Given the description of an element on the screen output the (x, y) to click on. 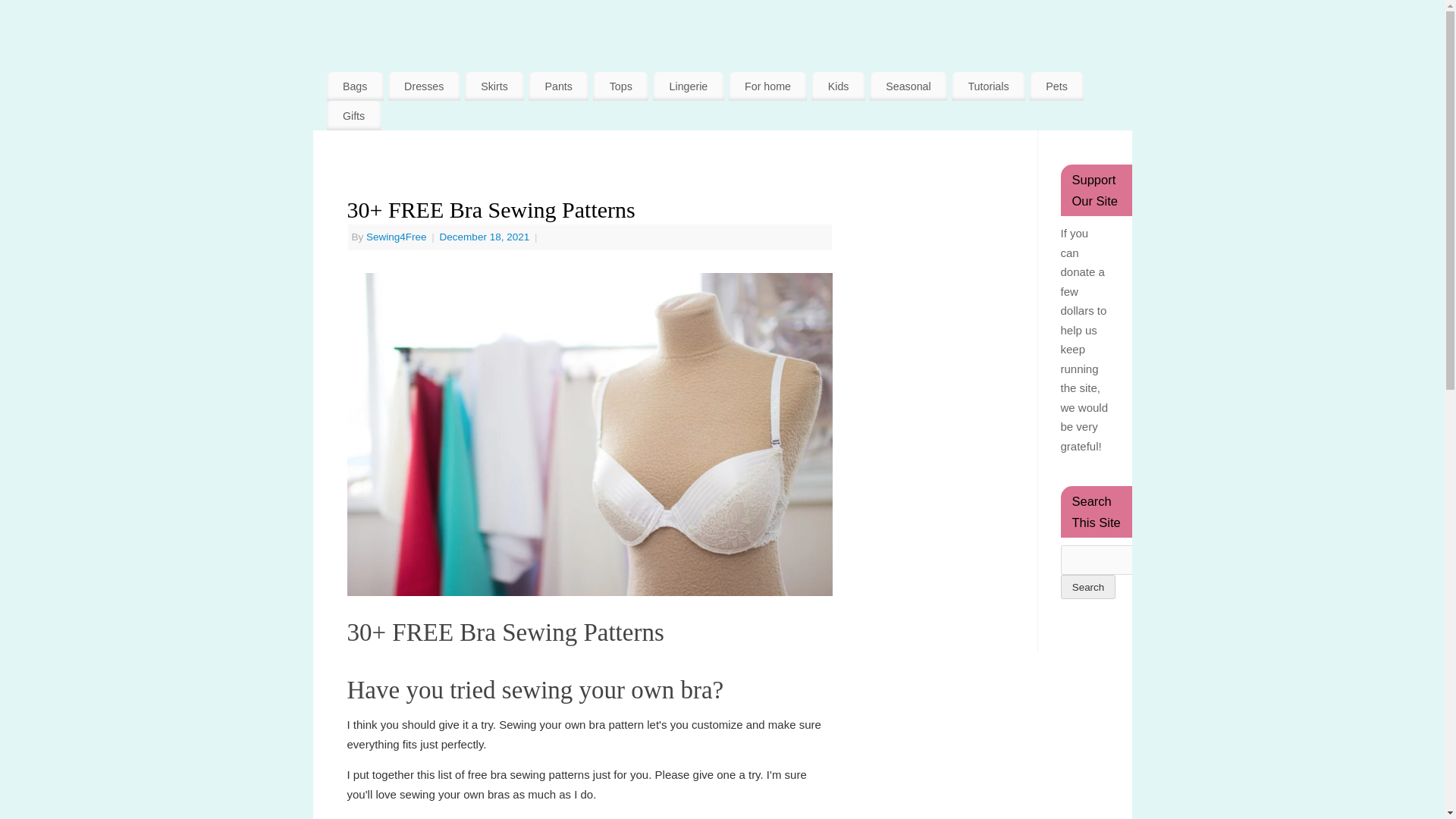
For home (768, 86)
Lingerie (687, 86)
Search (1087, 586)
Pants (558, 86)
Kids (837, 86)
Gifts (353, 114)
View all posts by Sewing4Free (396, 236)
Dresses (424, 86)
December 18, 2021 (485, 236)
Seasonal (908, 86)
Skirts (494, 86)
Pets (1056, 86)
Tutorials (988, 86)
Tops (619, 86)
Bags (354, 86)
